Given the description of an element on the screen output the (x, y) to click on. 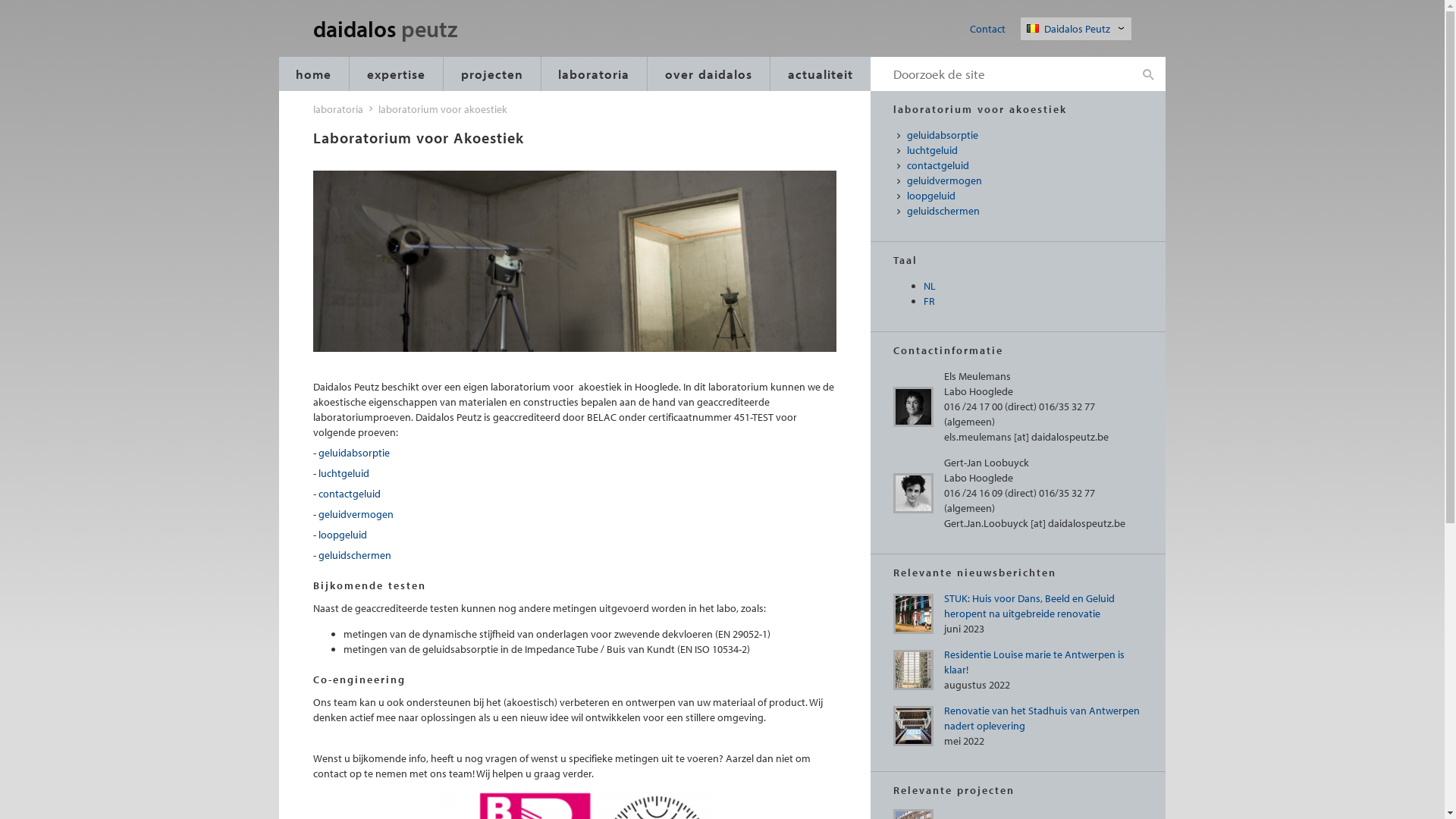
geluidschermen Element type: text (354, 554)
luchtgeluid Element type: text (343, 473)
home Element type: text (314, 73)
over daidalos Element type: text (708, 73)
Residentie Louise marie te Antwerpen is klaar! Element type: text (1033, 661)
luchtgeluid Element type: text (1024, 150)
contactgeluid Element type: text (1024, 165)
FR Element type: text (929, 300)
Daidalos Peutz Element type: text (1078, 28)
laboratoria Element type: text (594, 73)
contactgeluid Element type: text (349, 493)
projecten Element type: text (491, 73)
actualiteit Element type: text (820, 73)
daidalos peutz Element type: text (405, 29)
Renovatie van het Stadhuis van Antwerpen nadert oplevering Element type: text (1041, 717)
laboratoria Element type: text (337, 109)
geluidvermogen Element type: text (1024, 180)
geluidabsorptie Element type: text (1024, 135)
expertise Element type: text (395, 73)
Overslaan en naar de inhoud gaan Element type: text (0, 0)
Geef de woorden op waarnaar u wilt zoeken. Element type: hover (1001, 73)
geluidabsorptie Element type: text (353, 452)
NL Element type: text (929, 285)
geluidvermogen Element type: text (355, 513)
Contact Element type: text (987, 28)
geluidschermen Element type: text (1024, 211)
loopgeluid Element type: text (1024, 195)
loopgeluid Element type: text (342, 534)
